Given the description of an element on the screen output the (x, y) to click on. 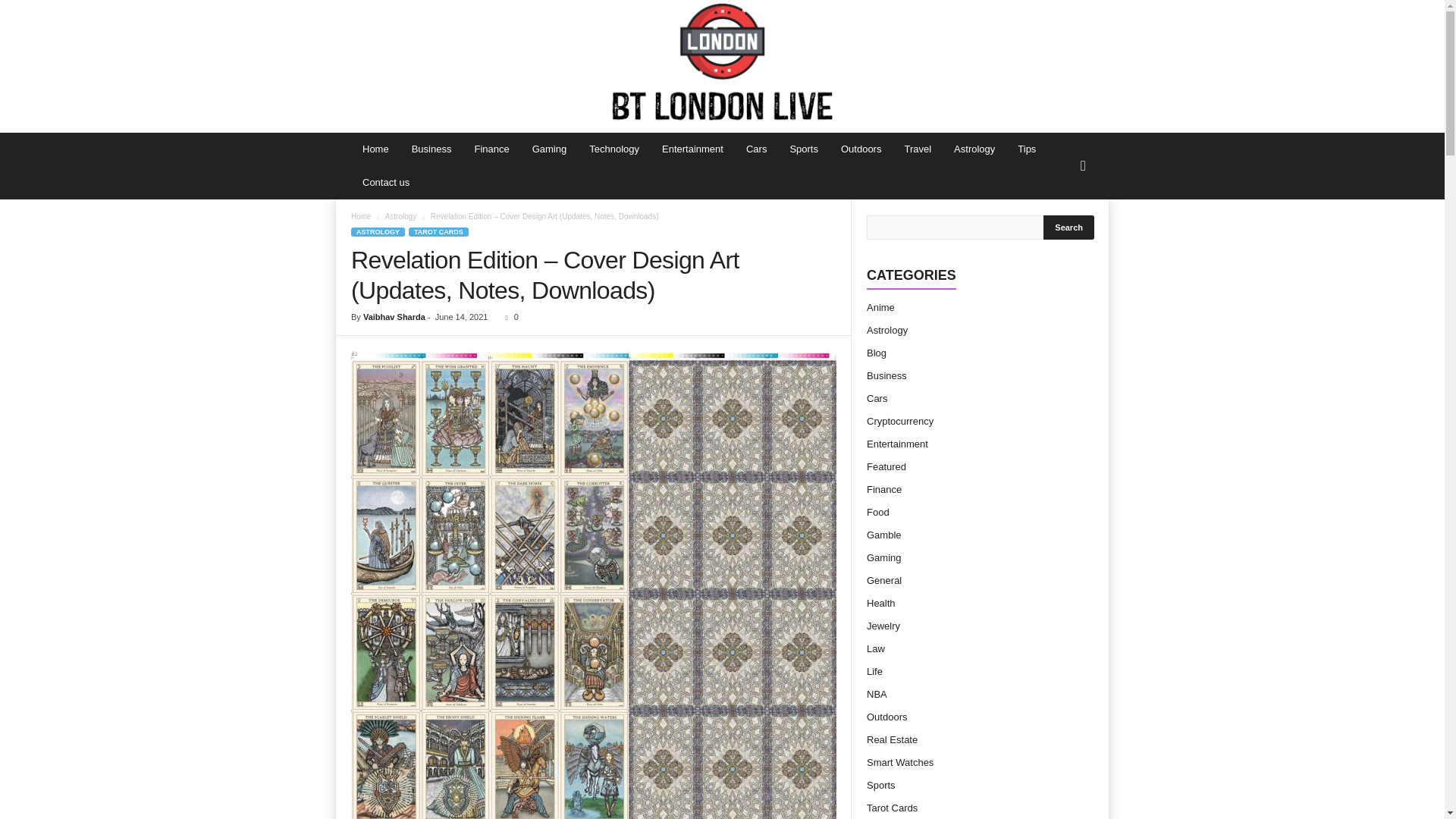
Astrology (974, 149)
Home (375, 149)
Home (360, 216)
Tips (1026, 149)
Technology (614, 149)
Astrology (400, 216)
Contact us (385, 182)
Business (431, 149)
Entertainment (692, 149)
Travel (917, 149)
Search (1068, 227)
View all posts in Astrology (400, 216)
Sports (803, 149)
Cars (756, 149)
Outdoors (860, 149)
